Given the description of an element on the screen output the (x, y) to click on. 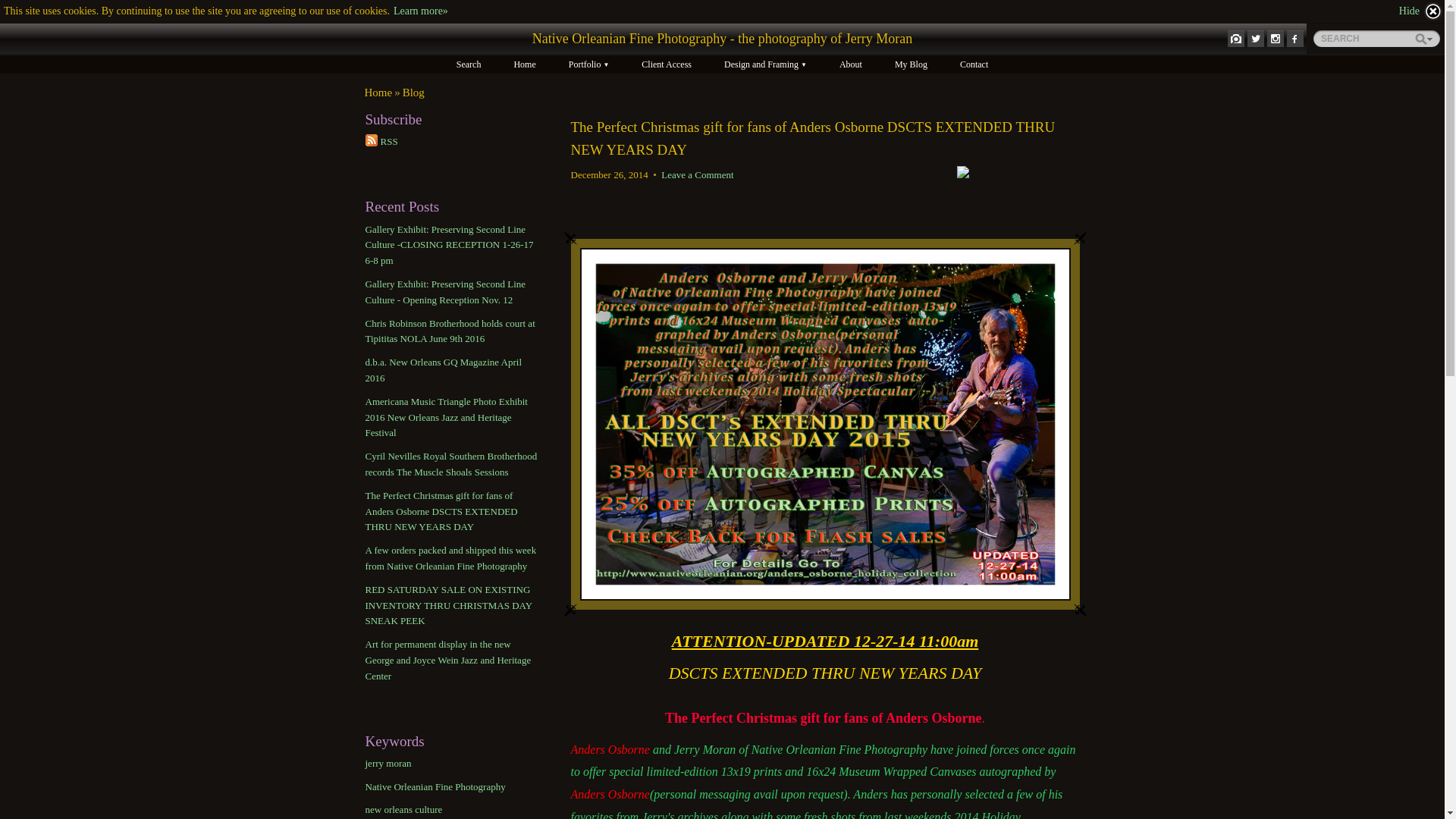
Contact (973, 64)
Hide (1420, 11)
SEARCH (1376, 38)
Search (468, 64)
Home (377, 92)
My Blog (910, 64)
Client Access (666, 64)
SEARCH (1376, 38)
About (850, 64)
Home (523, 64)
